Given the description of an element on the screen output the (x, y) to click on. 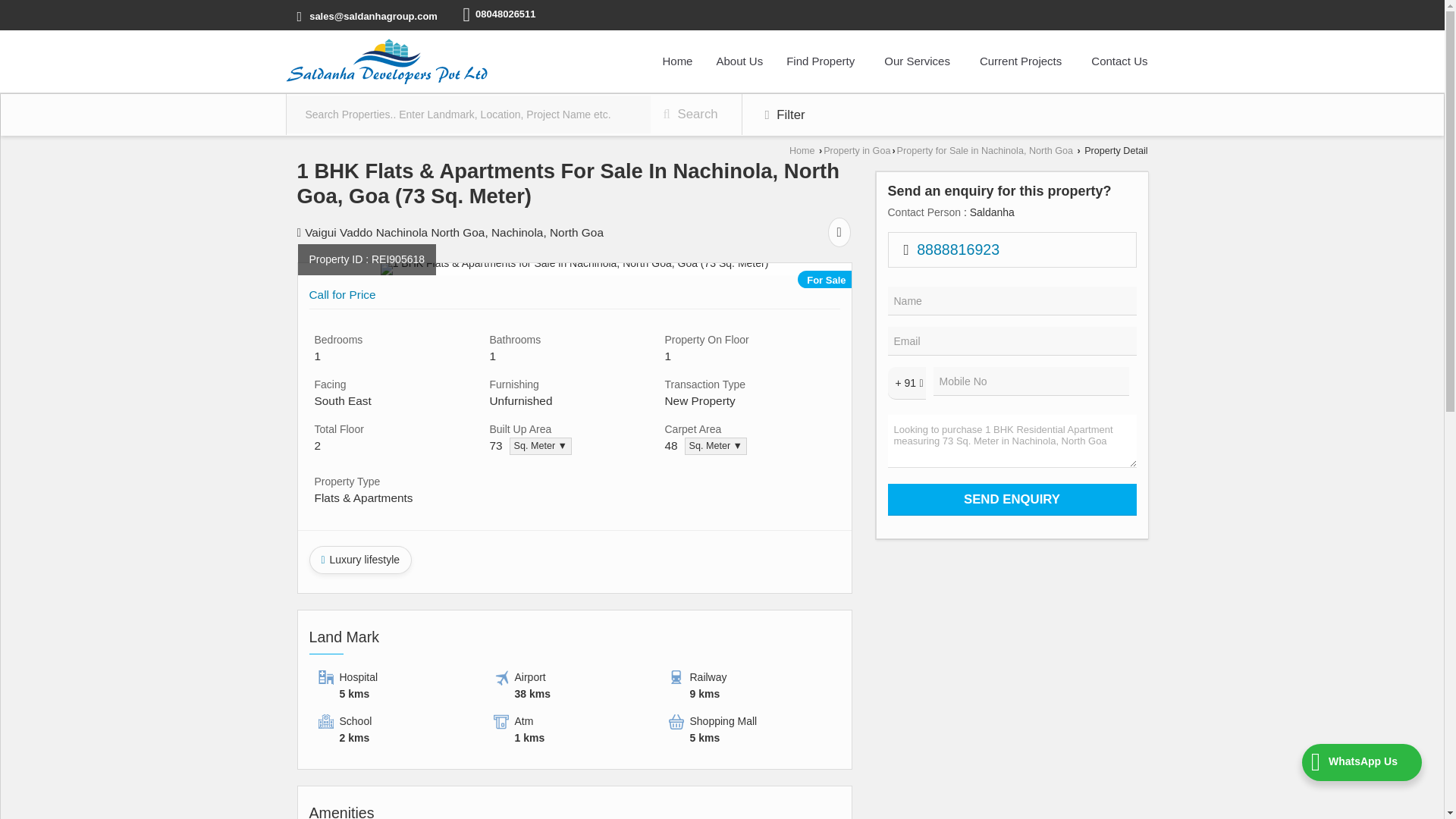
Saldanha Developers Pvt Ltd (385, 61)
Saldanha Developers Pvt Ltd (385, 61)
About Us (739, 60)
Find Property (823, 60)
Find Property (823, 60)
Home (676, 60)
Search (690, 114)
Current Projects (1023, 60)
Send Enquiry (1010, 499)
Filter (785, 114)
